Given the description of an element on the screen output the (x, y) to click on. 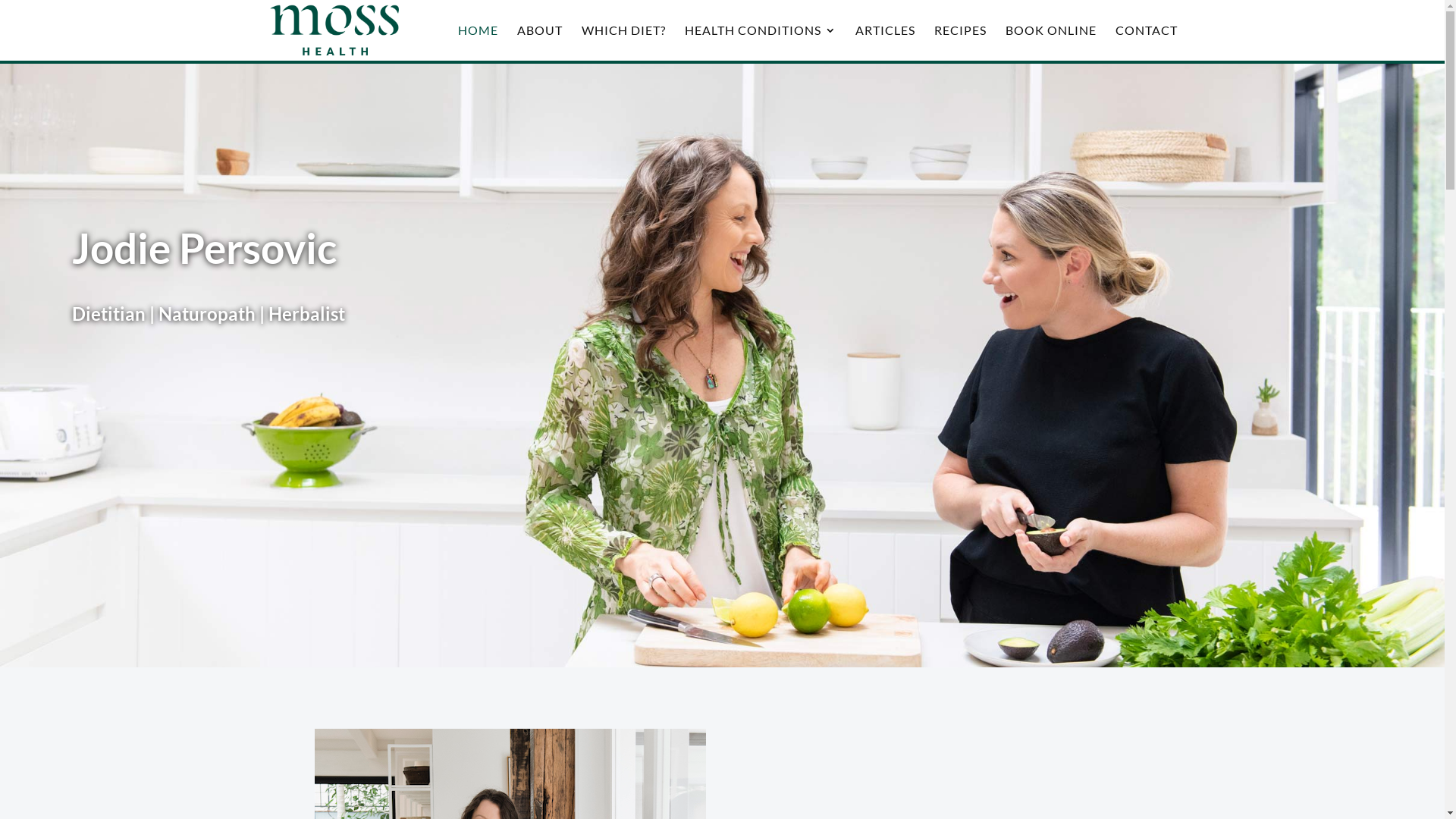
ARTICLES Element type: text (885, 42)
HEALTH CONDITIONS Element type: text (759, 42)
RECIPES Element type: text (960, 42)
CONTACT Element type: text (1145, 42)
HOME Element type: text (478, 42)
ABOUT Element type: text (539, 42)
BOOK ONLINE Element type: text (1050, 42)
WHICH DIET? Element type: text (622, 42)
